Given the description of an element on the screen output the (x, y) to click on. 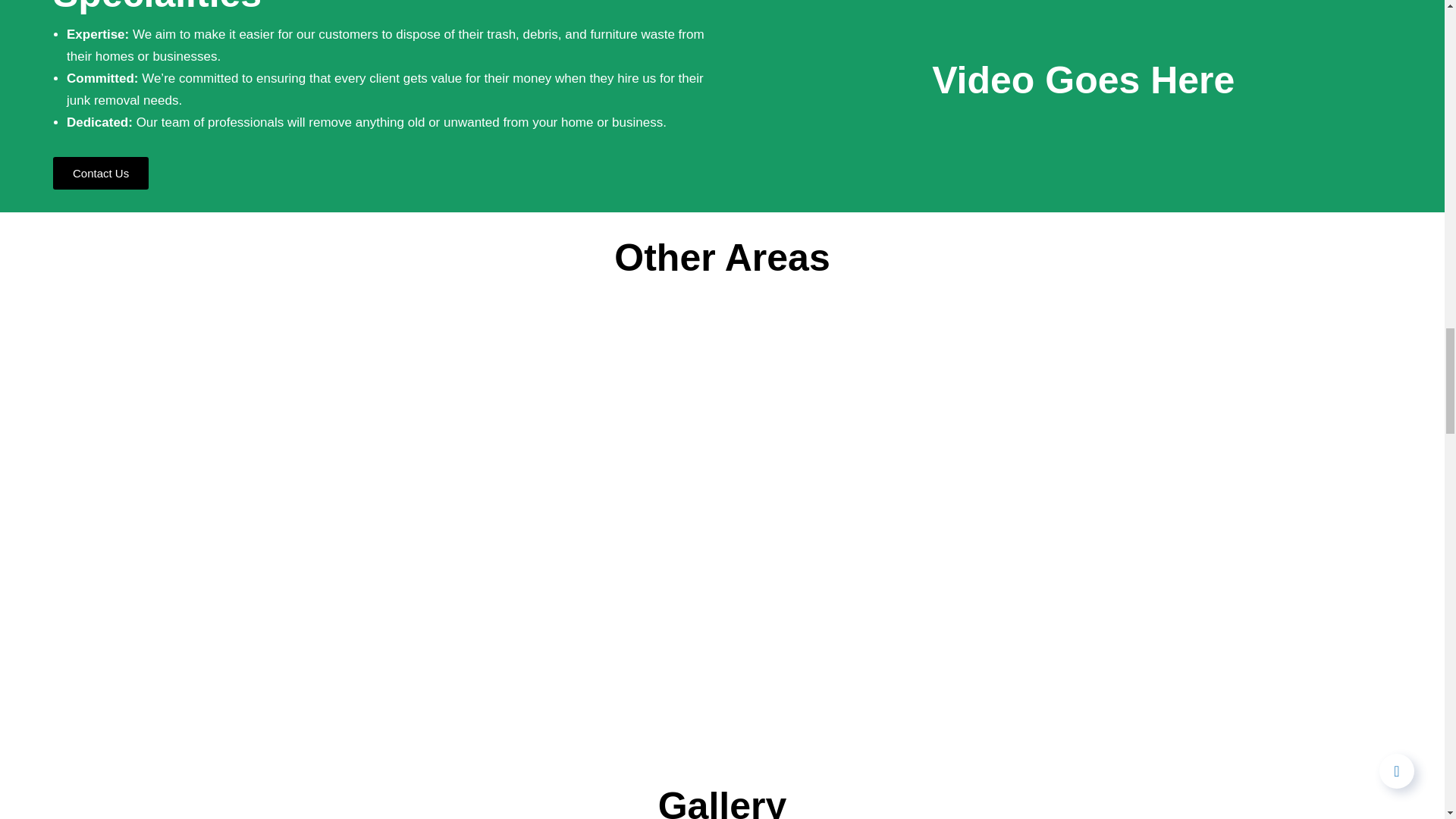
Contact Us (100, 173)
